Given the description of an element on the screen output the (x, y) to click on. 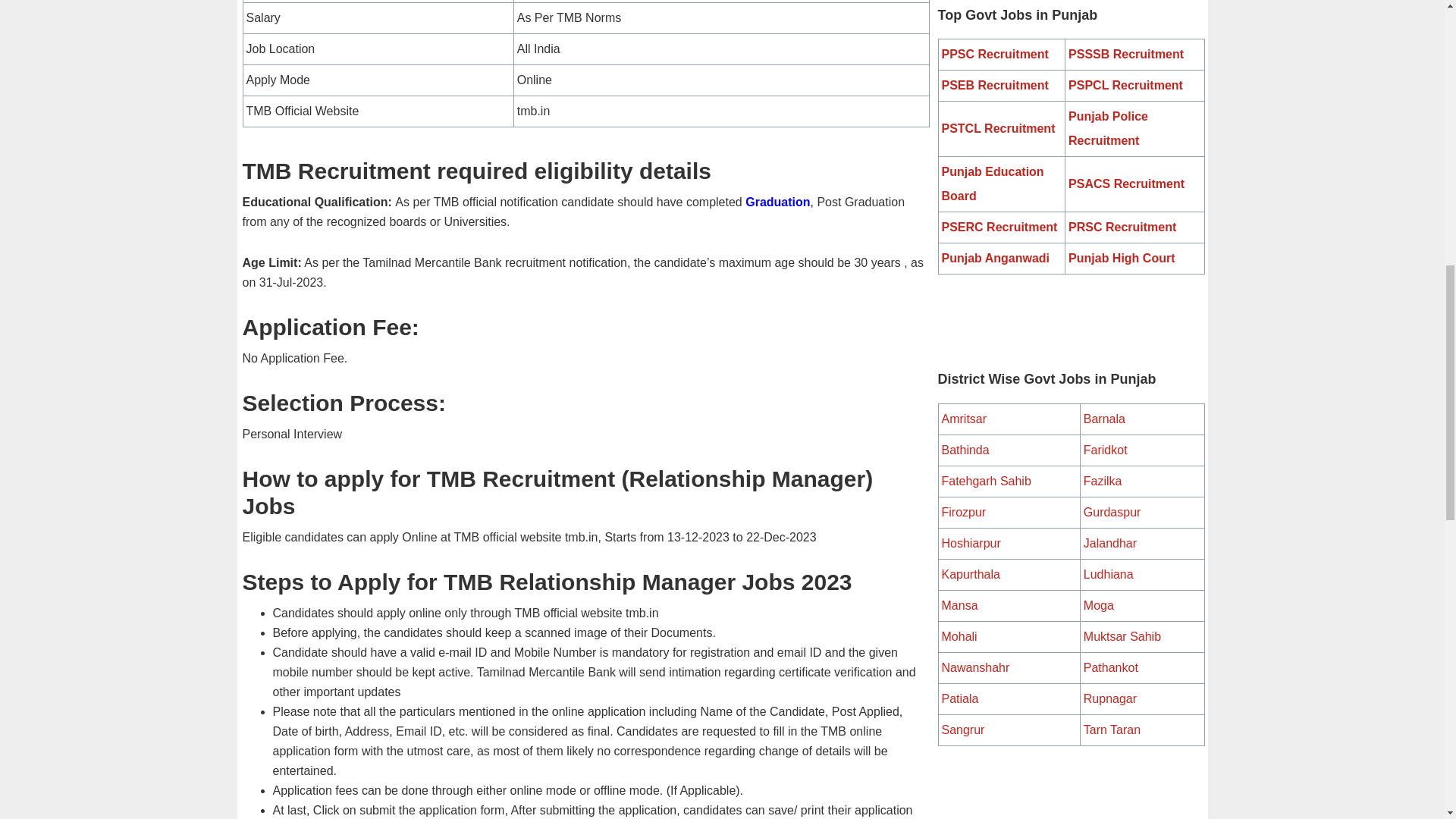
PSERC Recruitment (1000, 226)
Punjab Anganwadi (995, 257)
Punjab Education Board (992, 183)
Punjab High Court (1121, 257)
Graduation (777, 201)
Punjab Police Recruitment (1108, 128)
PSTCL Recruitment (998, 128)
Faridkot (1104, 449)
PSEB Recruitment (995, 84)
Bathinda (966, 449)
